Given the description of an element on the screen output the (x, y) to click on. 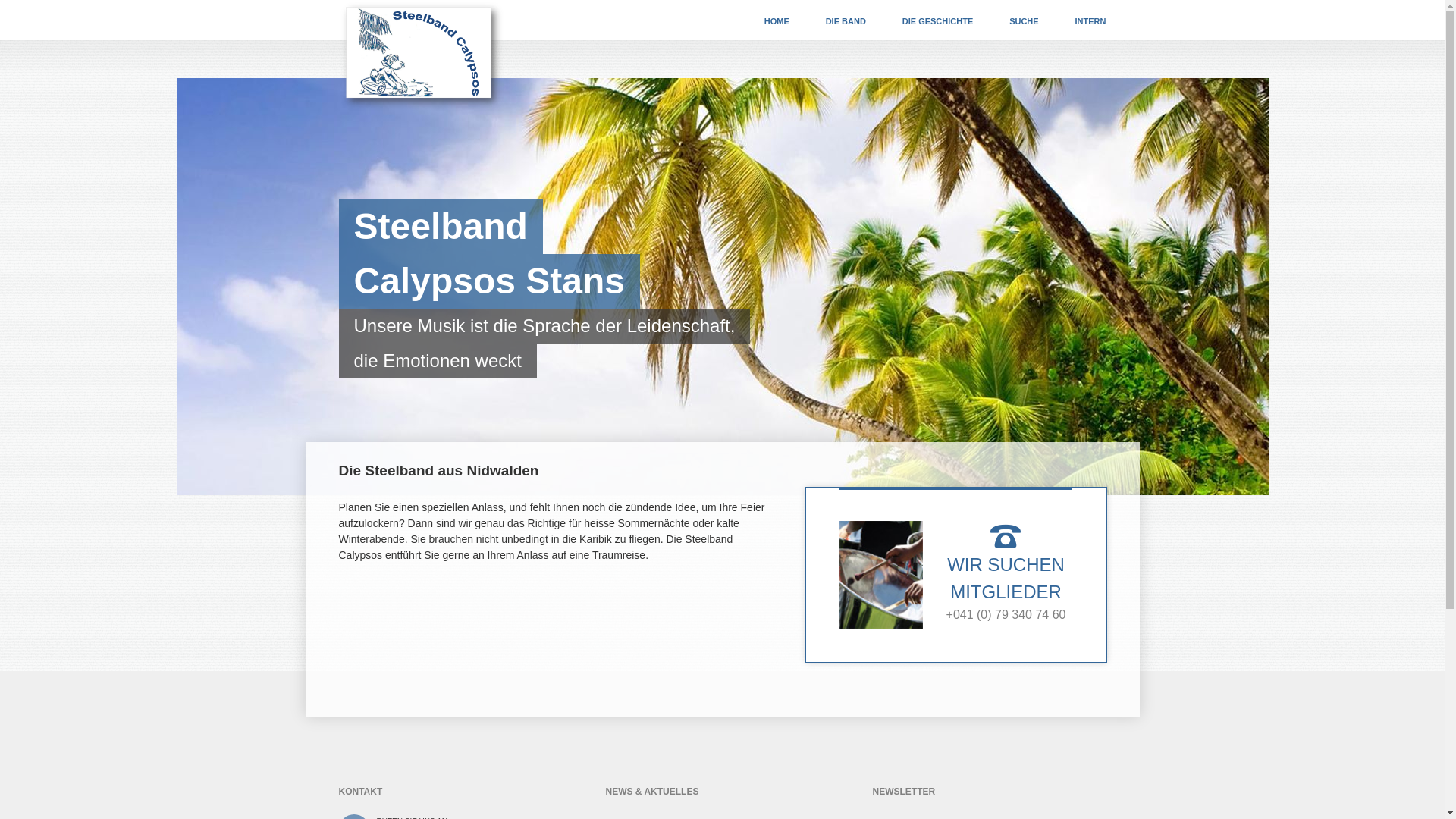
DIE GESCHICHTE Element type: text (937, 20)
SUCHE Element type: text (1023, 20)
HOME Element type: text (776, 20)
INTERN Element type: text (1090, 20)
DIE BAND Element type: text (845, 20)
